Given the description of an element on the screen output the (x, y) to click on. 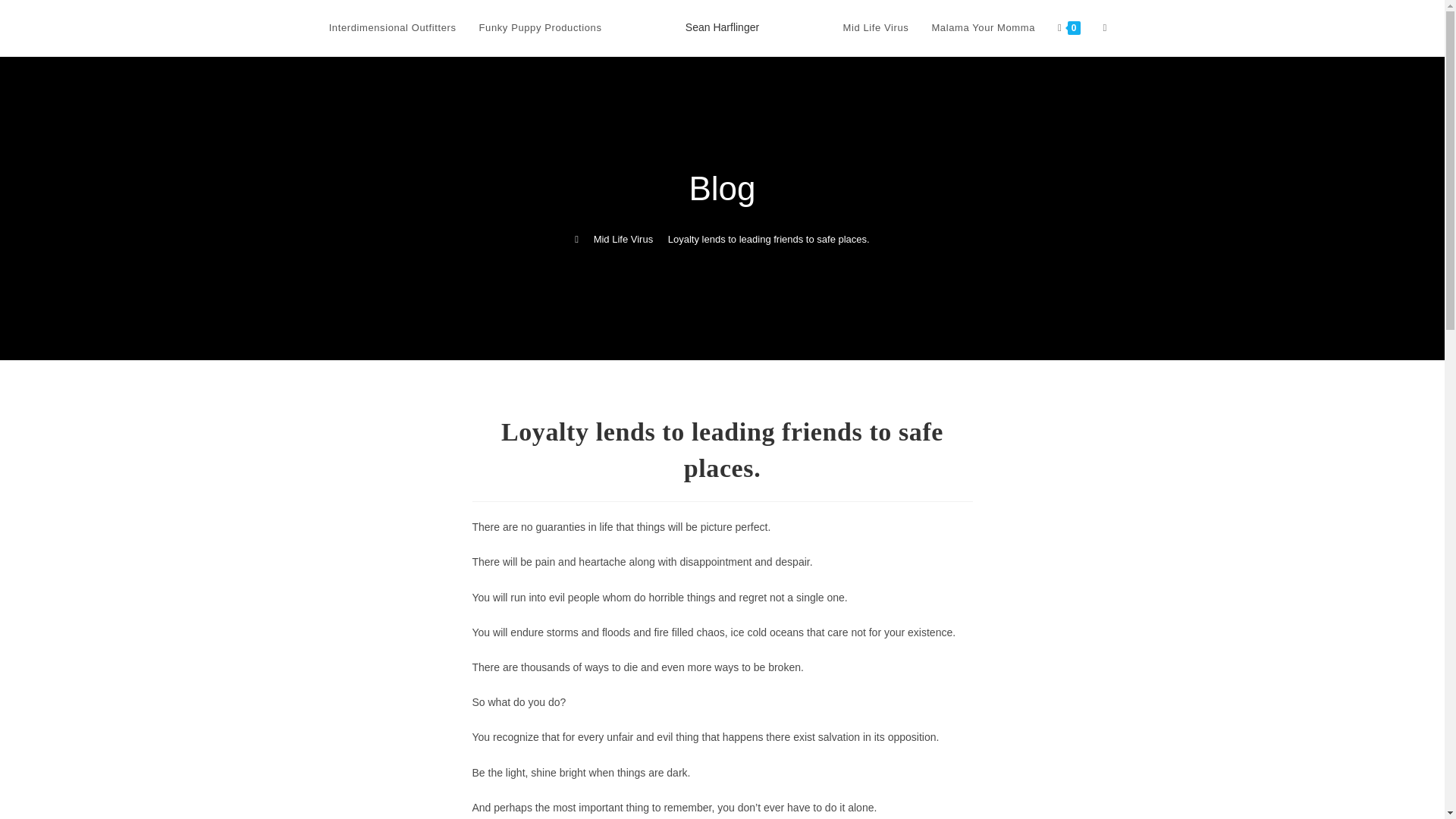
0 (1068, 28)
Loyalty lends to leading friends to safe places. (768, 238)
Sean Harflinger (721, 27)
Interdimensional Outfitters (392, 28)
Toggle website search (1105, 28)
Funky Puppy Productions (539, 28)
Mid Life Virus (875, 28)
Malama Your Momma (983, 28)
Mid Life Virus (623, 238)
